Given the description of an element on the screen output the (x, y) to click on. 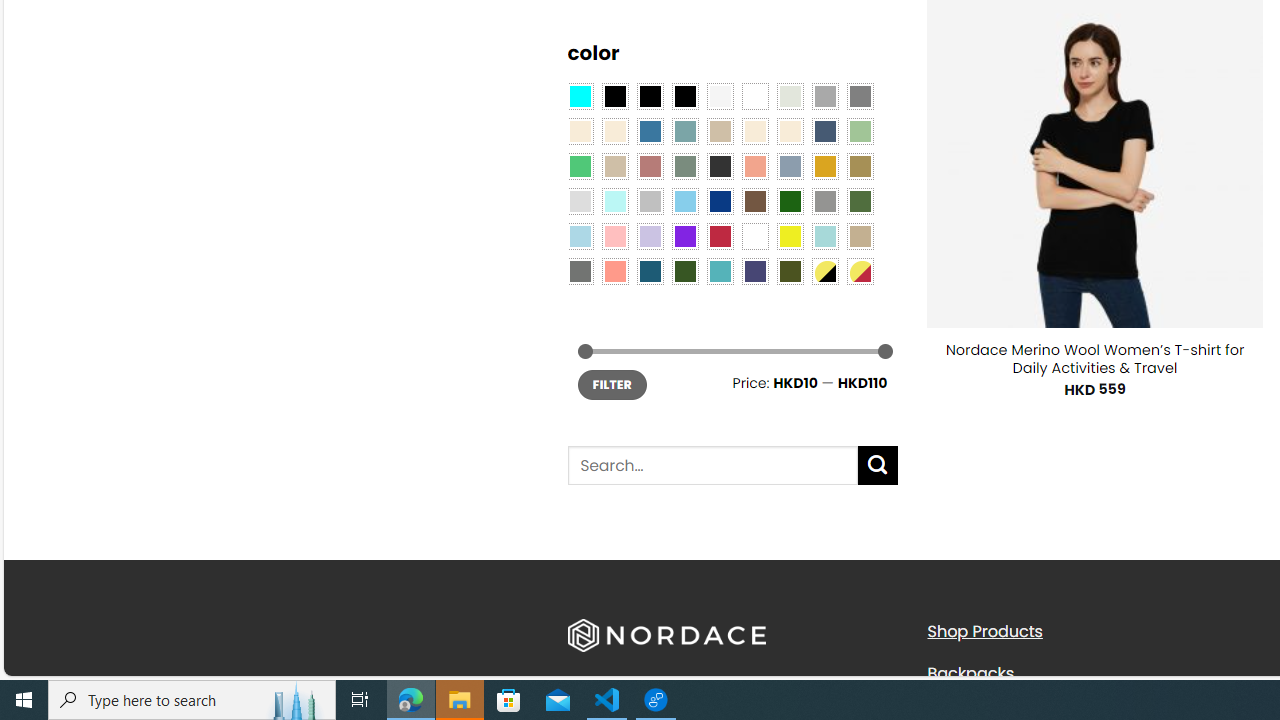
Light Gray (579, 200)
Light Green (859, 131)
Purple (684, 236)
Ash Gray (789, 95)
Aqua Blue (579, 95)
Gold (824, 165)
Peach Pink (614, 270)
Clear (755, 95)
Yellow-Black (824, 270)
Sage (684, 165)
Navy Blue (719, 200)
Khaki (859, 236)
Emerald Green (579, 165)
Light Blue (579, 236)
Light Taupe (614, 165)
